Given the description of an element on the screen output the (x, y) to click on. 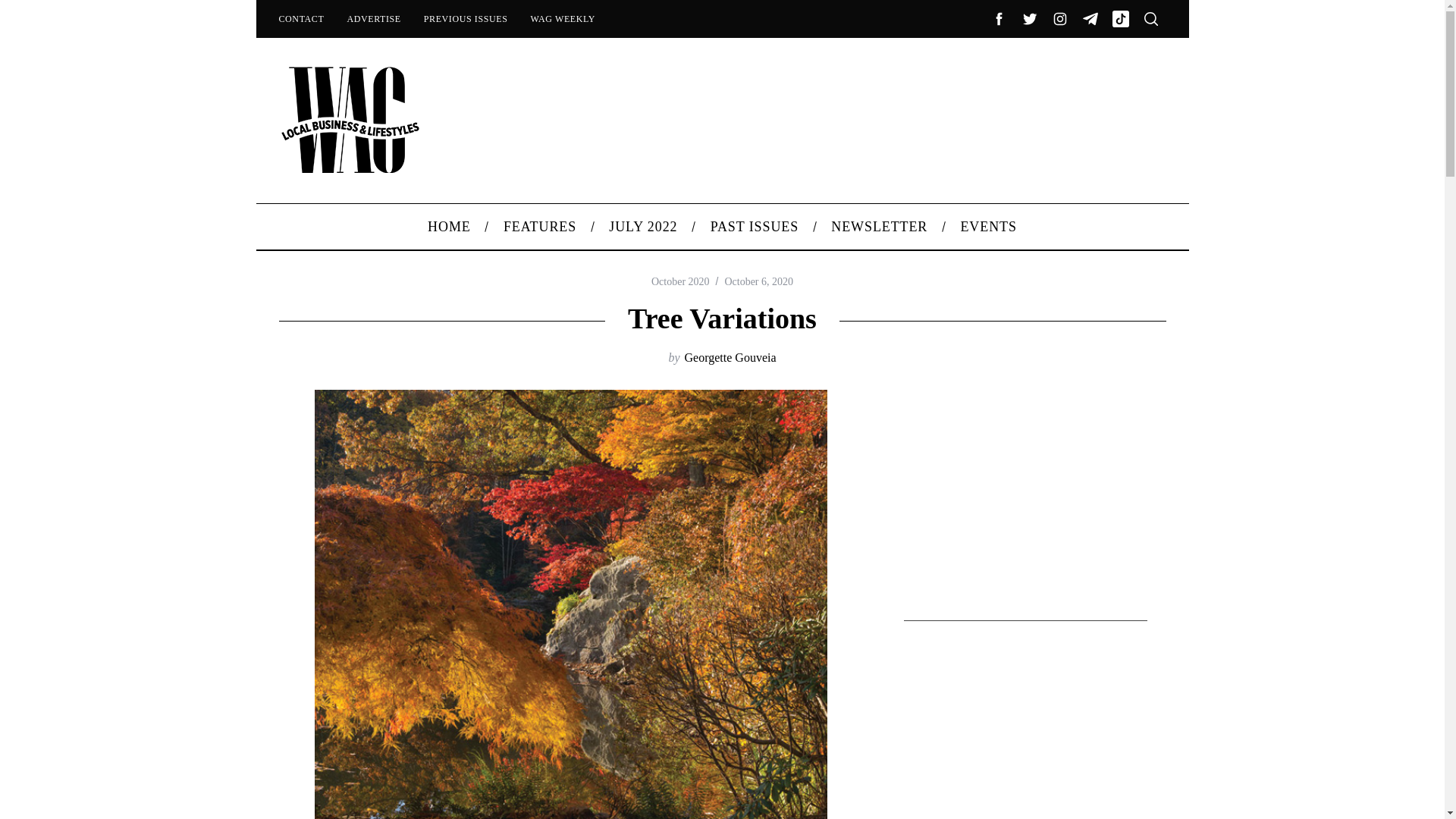
ADVERTISE (373, 18)
FEATURES (539, 226)
WAG WEEKLY (562, 18)
PREVIOUS ISSUES (465, 18)
HOME (449, 226)
CONTACT (300, 18)
JULY 2022 (643, 226)
PAST ISSUES (754, 226)
